Given the description of an element on the screen output the (x, y) to click on. 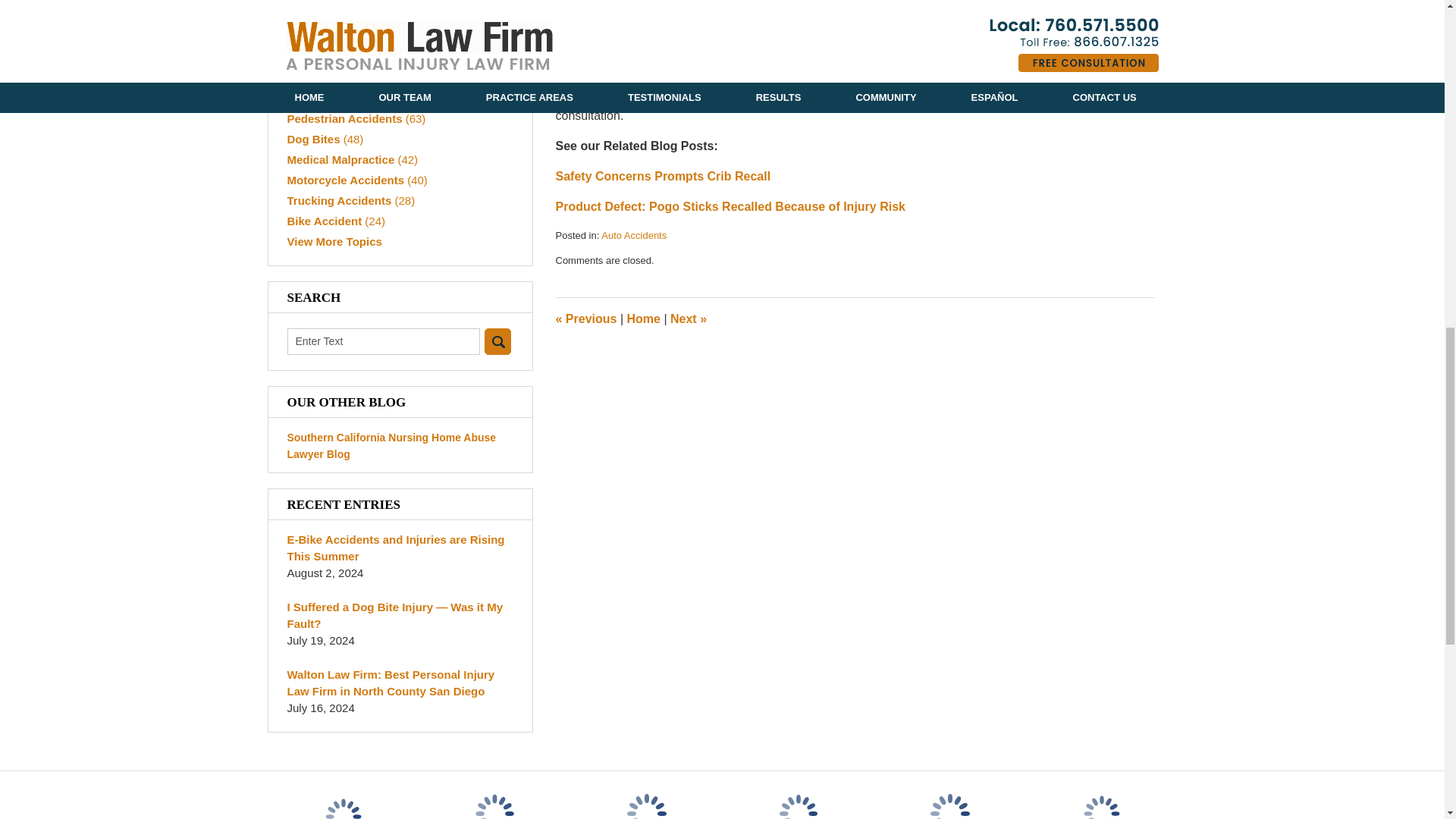
Product Defect: Pogo Sticks Recalled Because of Injury Risk (729, 205)
Safety Concerns Prompts Crib Recall (662, 175)
Home (642, 318)
View all posts in Auto Accidents (633, 235)
San Diego car accident attorney (943, 60)
San Diego FedEx Truck Crash Kills Two, Injures One (687, 318)
Auto Accidents (633, 235)
